Given the description of an element on the screen output the (x, y) to click on. 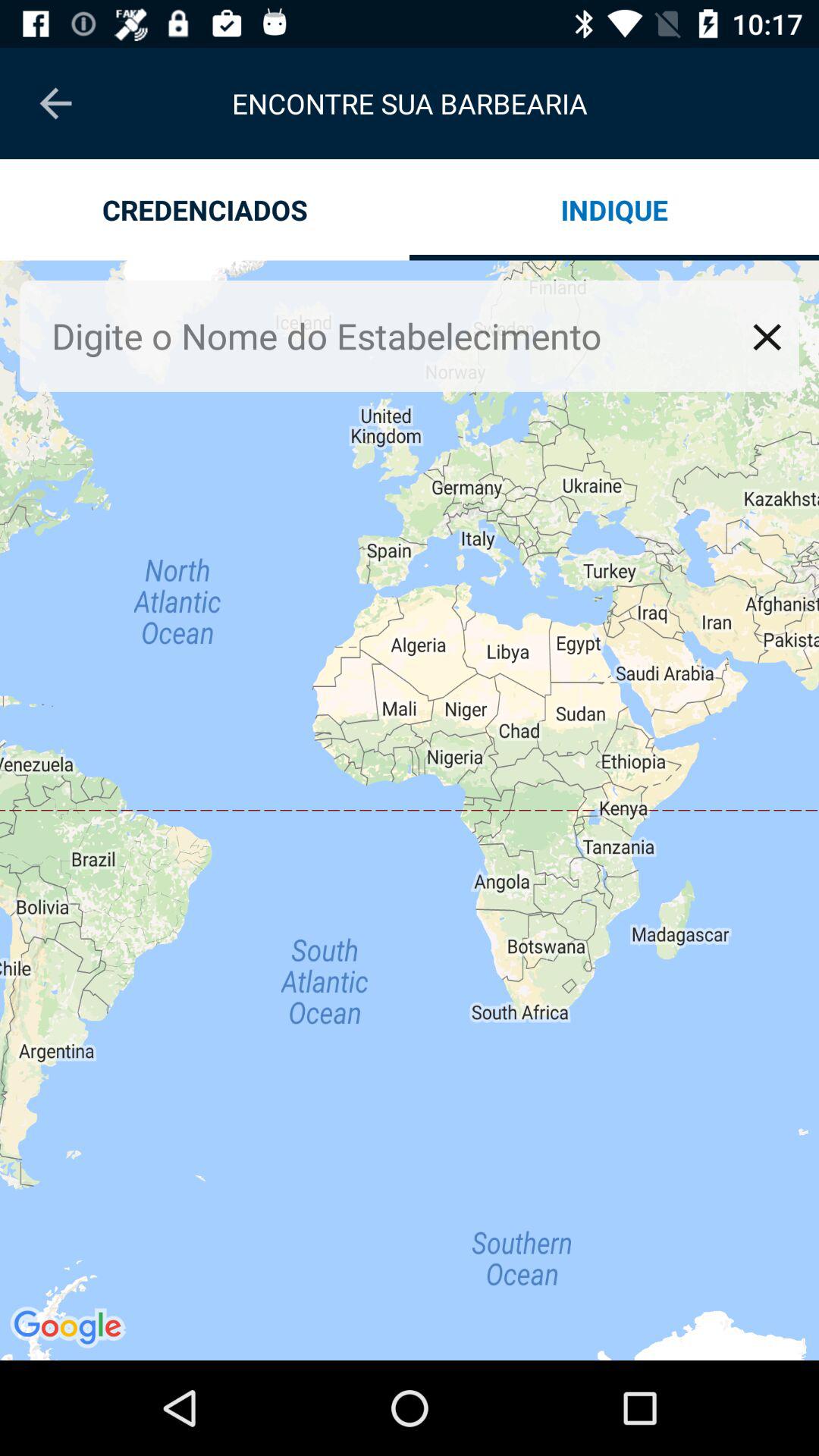
turn off the item below credenciados app (409, 810)
